Given the description of an element on the screen output the (x, y) to click on. 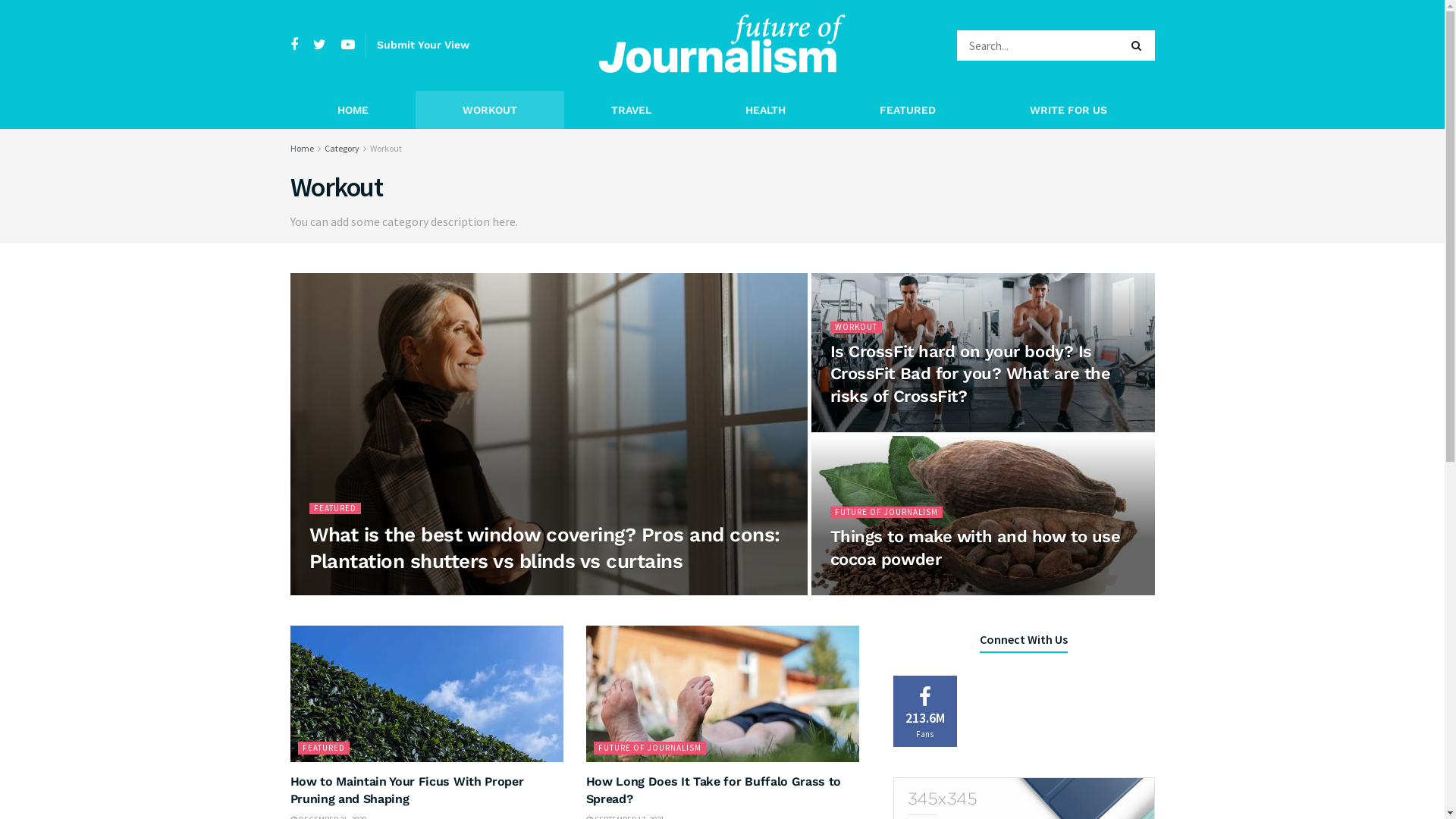
Workout Element type: text (385, 147)
Category Element type: text (341, 147)
TRAVEL Element type: text (631, 109)
FEATURED Element type: text (334, 508)
WORKOUT Element type: text (489, 109)
FUTURE OF JOURNALISM Element type: text (885, 511)
FEATURED Element type: text (322, 747)
HEALTH Element type: text (765, 109)
HOME Element type: text (351, 109)
FUTURE OF JOURNALISM Element type: text (649, 747)
Home Element type: text (301, 147)
How Long Does It Take for Buffalo Grass to Spread? Element type: text (712, 789)
How to Maintain Your Ficus With Proper Pruning and Shaping Element type: text (406, 789)
213.6M
Fans Element type: text (925, 710)
Submit Your View Element type: text (422, 44)
WORKOUT Element type: text (855, 326)
FEATURED Element type: text (907, 109)
WRITE FOR US Element type: text (1068, 109)
Things to make with and how to use cocoa powder Element type: text (974, 547)
